Given the description of an element on the screen output the (x, y) to click on. 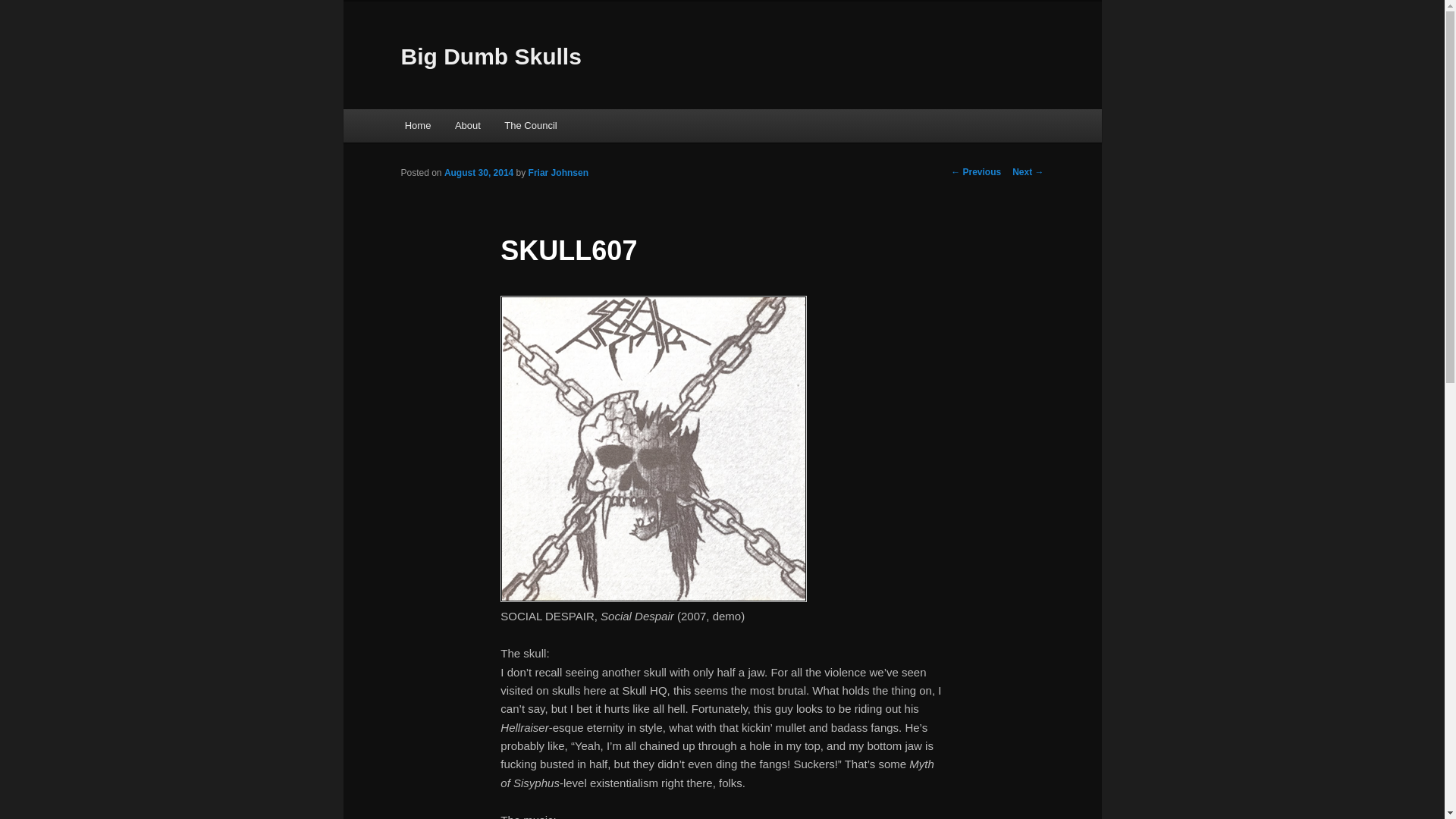
August 30, 2014 (478, 172)
Big Dumb Skulls (490, 56)
View all posts by Friar Johnsen (558, 172)
Friar Johnsen (558, 172)
About (467, 124)
Skip to primary content (472, 127)
The Council (531, 124)
Skip to primary content (472, 127)
Skip to secondary content (479, 127)
8:00 am (478, 172)
Skip to secondary content (479, 127)
Big Dumb Skulls (490, 56)
Home (417, 124)
